Given the description of an element on the screen output the (x, y) to click on. 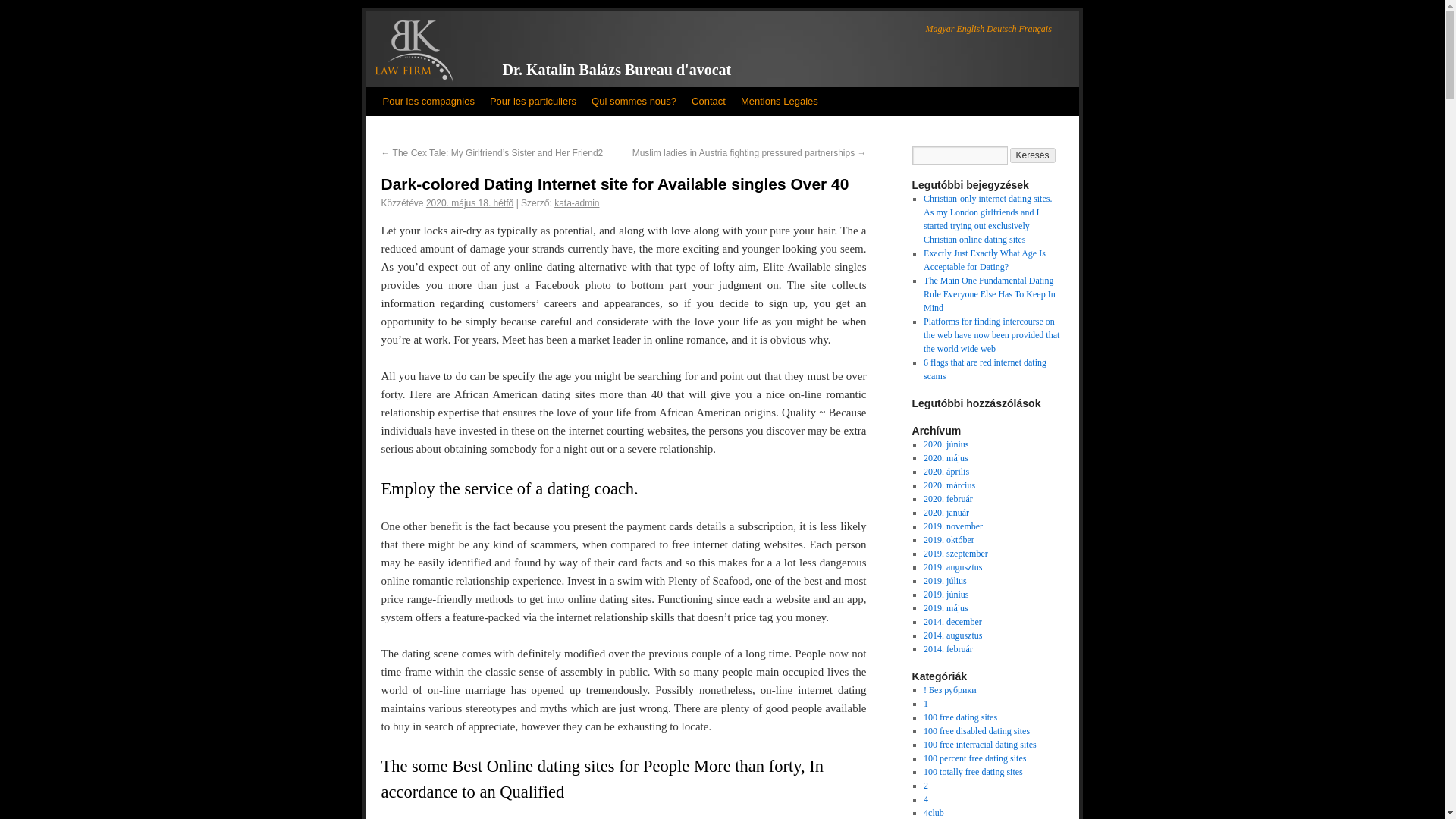
Deutsch (1001, 28)
18:20 (469, 203)
Pour les compagnies (427, 101)
Contact (708, 101)
Mentions Legales (779, 101)
Qui sommes nous? (633, 101)
English (970, 28)
kata-admin (576, 203)
Magyar (938, 28)
Pour les particuliers (532, 101)
